Given the description of an element on the screen output the (x, y) to click on. 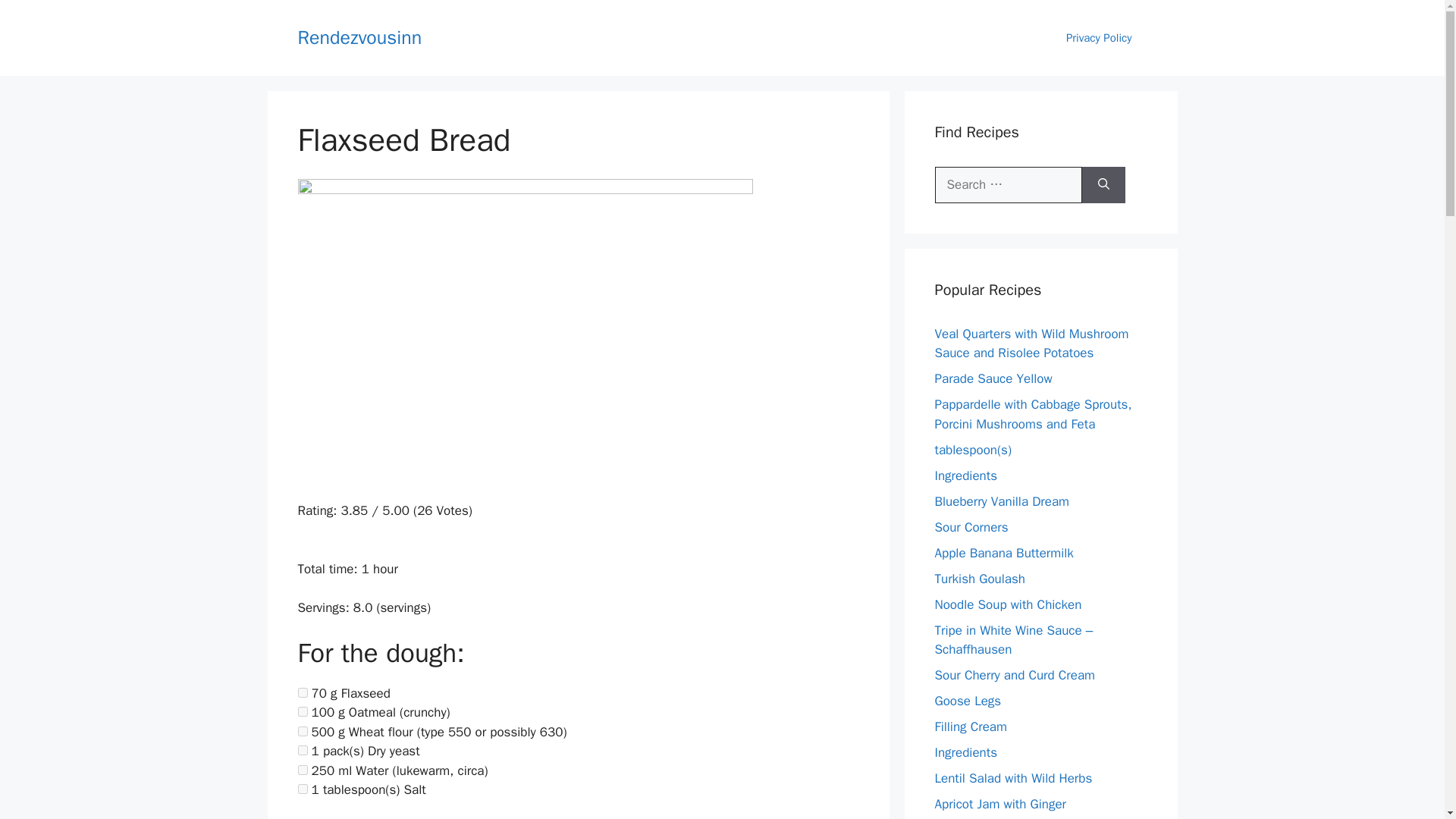
Ingredients (965, 474)
Pappardelle with Cabbage Sprouts, Porcini Mushrooms and Feta (1032, 414)
Veal Quarters with Wild Mushroom Sauce and Risolee Potatoes (1031, 343)
Apricot Jam with Ginger (999, 804)
Rendezvousinn (359, 37)
Ingredients (965, 752)
Blueberry Vanilla Dream (1001, 500)
70 g Flaxseed (302, 692)
Filling Cream (970, 726)
Apple Banana Buttermilk (1003, 552)
